Given the description of an element on the screen output the (x, y) to click on. 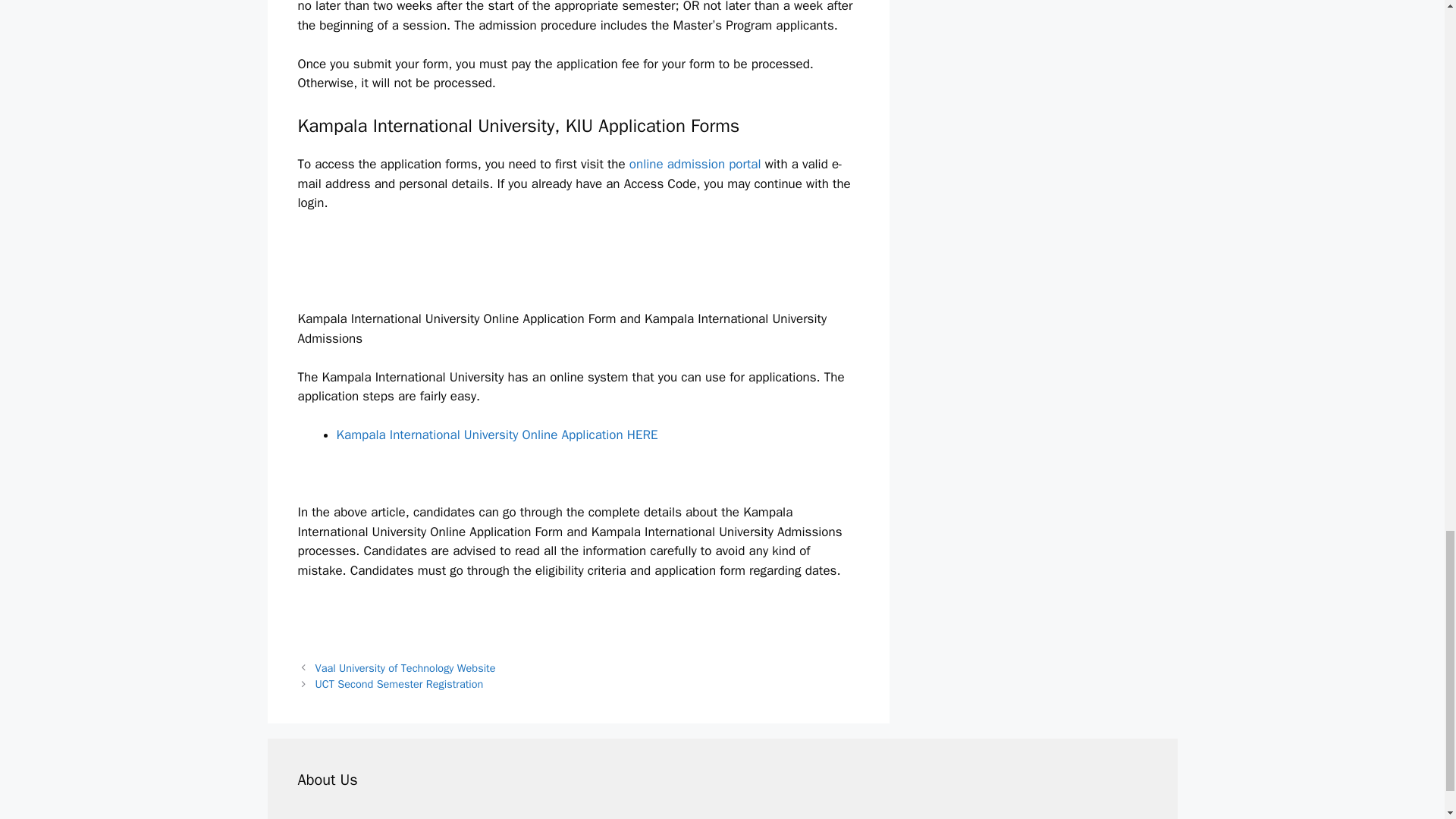
online admission portal  (696, 163)
UCT Second Semester Registration (399, 684)
Vaal University of Technology Website (405, 667)
Kampala International University Online Application HERE (497, 434)
